Given the description of an element on the screen output the (x, y) to click on. 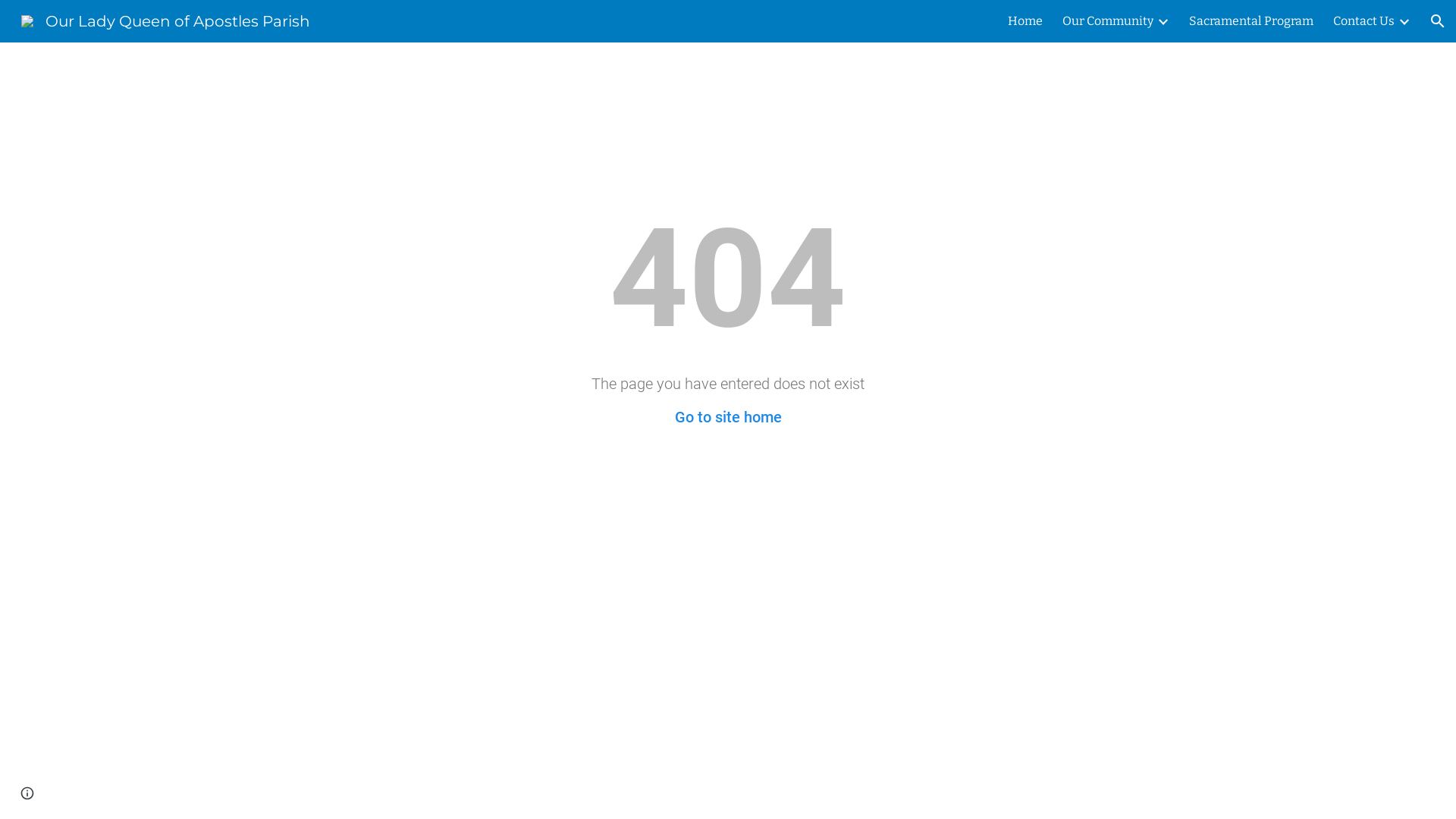
Expand/Collapse Element type: hover (1403, 20)
Our Community Element type: text (1107, 20)
Go to site home Element type: text (727, 416)
Our Lady Queen of Apostles Parish Element type: text (165, 19)
Expand/Collapse Element type: hover (1162, 20)
Home Element type: text (1024, 20)
Contact Us Element type: text (1363, 20)
Sacramental Program Element type: text (1251, 20)
